Given the description of an element on the screen output the (x, y) to click on. 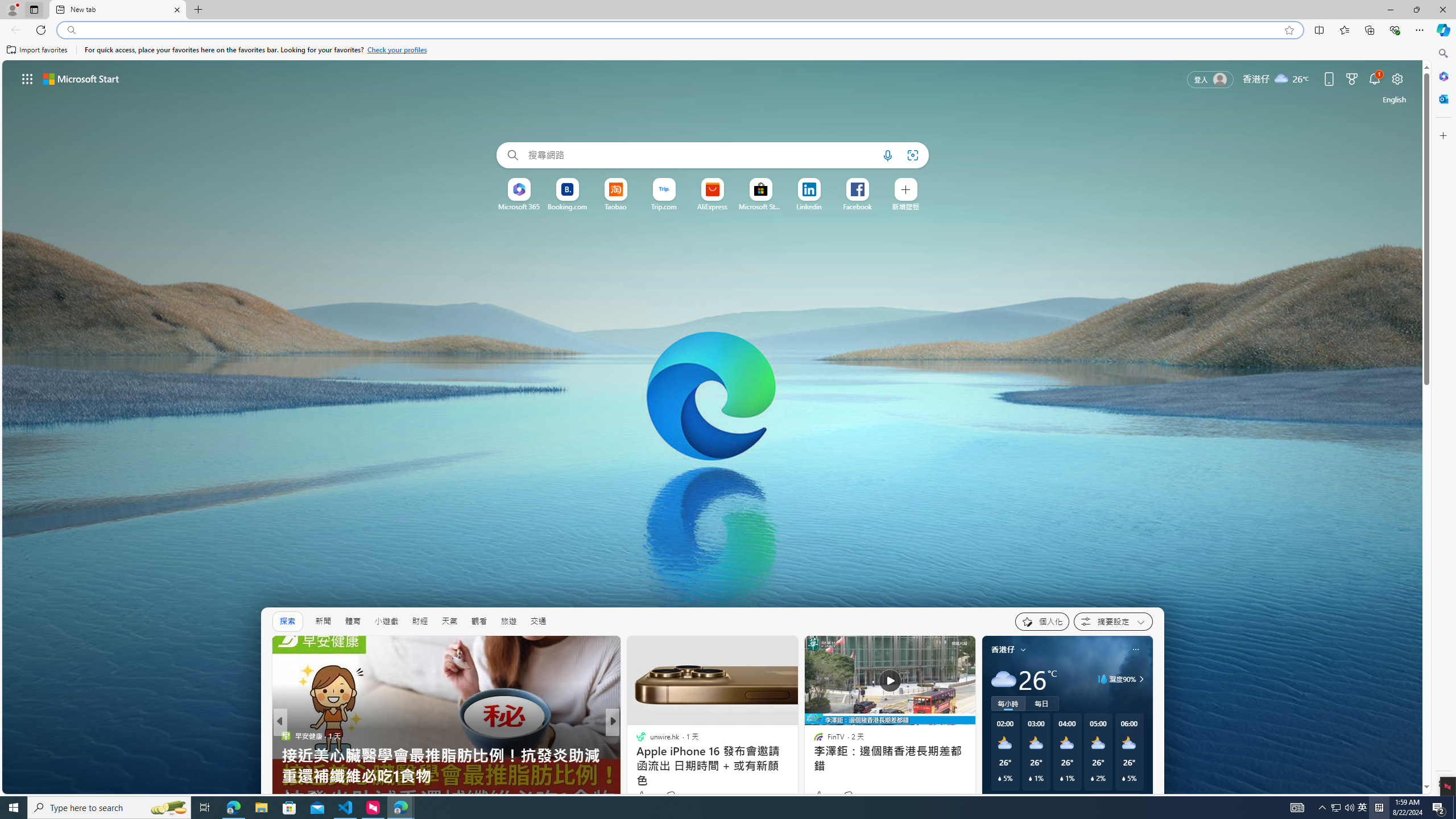
Class: weather-current-precipitation-glyph (1123, 778)
unwire.hk (286, 735)
